Given the description of an element on the screen output the (x, y) to click on. 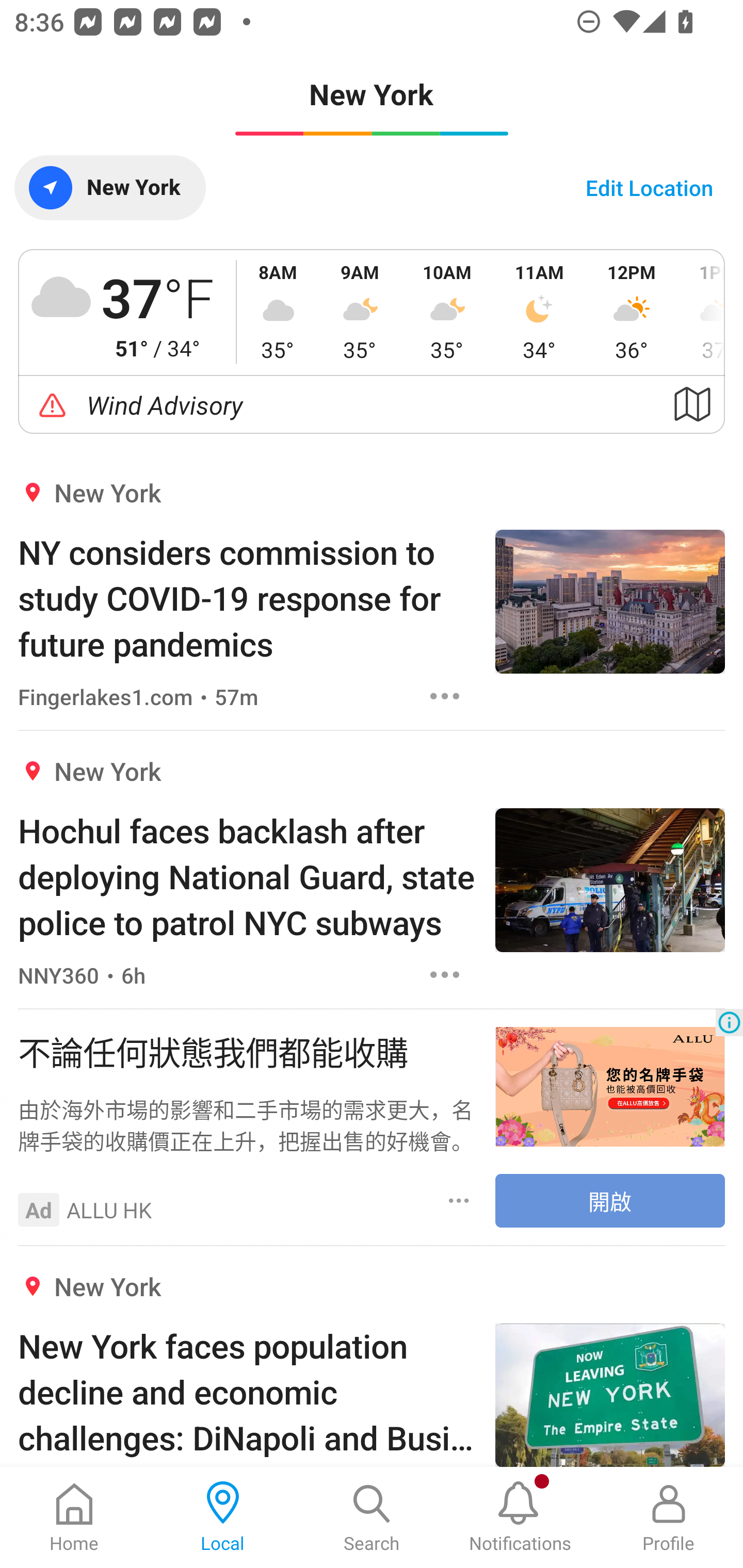
New York (109, 187)
Edit Location (648, 187)
8AM 35° (277, 311)
9AM 35° (359, 311)
10AM 35° (447, 311)
11AM 34° (539, 311)
12PM 36° (631, 311)
Wind Advisory (371, 405)
Options (444, 696)
Options (444, 975)
Ad Choices Icon (729, 1022)
不論任何狀態我們都能收購 (247, 1051)
由於海外市場的影響和二手市場的需求更大，名牌手袋的收購價正在上升，把握出售的好機會。 (247, 1123)
開啟 (610, 1200)
Options (459, 1200)
ALLU HK (108, 1209)
Home (74, 1517)
Search (371, 1517)
Notifications, New notification Notifications (519, 1517)
Profile (668, 1517)
